Given the description of an element on the screen output the (x, y) to click on. 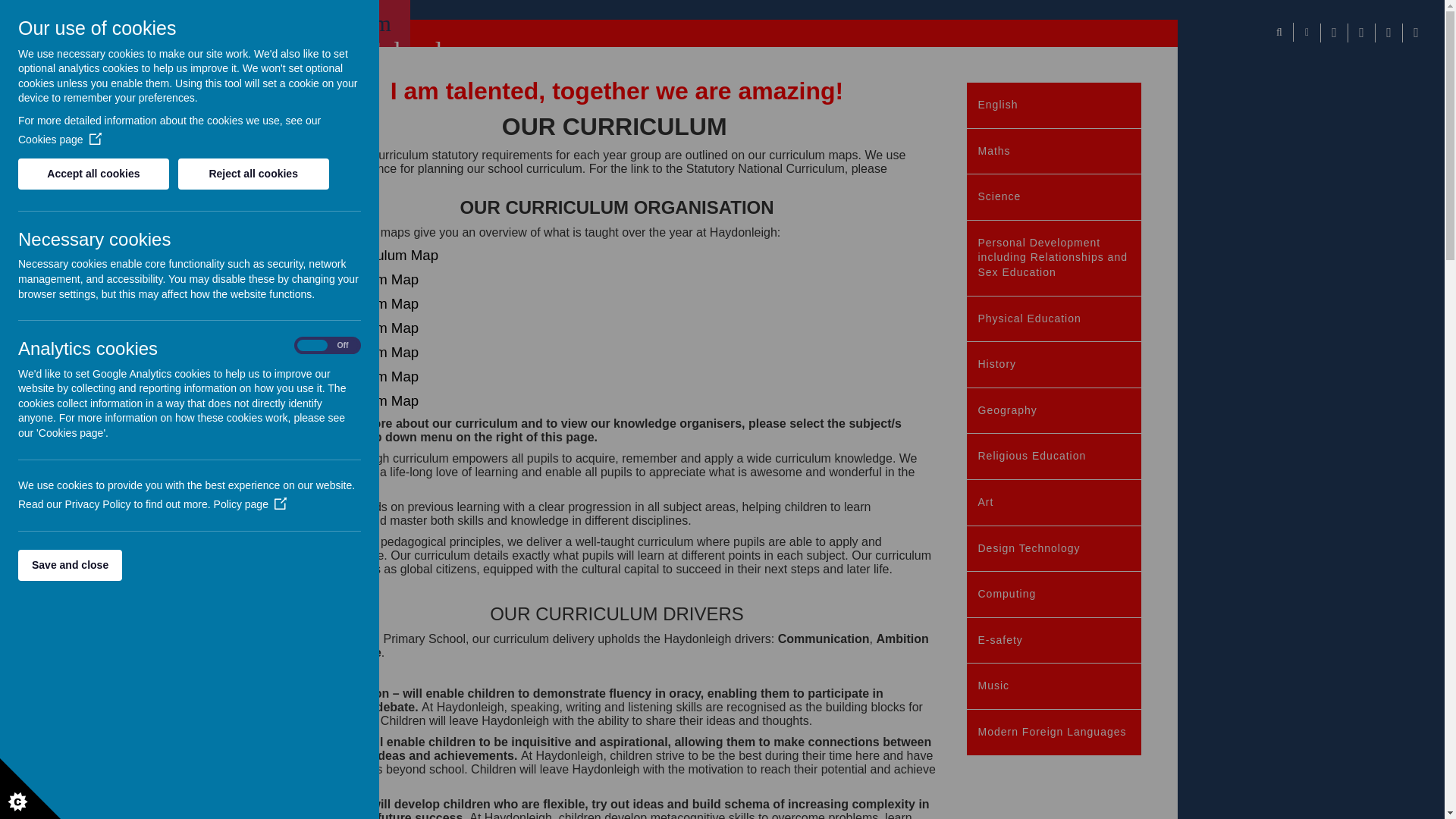
Y1 Curriculum Map (358, 279)
Y2 Curriculum Map (358, 303)
Instagram (1361, 32)
Facebook (1334, 32)
Cookie Control Icon (30, 788)
Y5 Curriculum Map (358, 376)
Y4 Curriculum Map (358, 351)
EYFS Curriculum Map (367, 254)
on (327, 345)
YouTube (1415, 32)
Twitter (1388, 32)
